Given the description of an element on the screen output the (x, y) to click on. 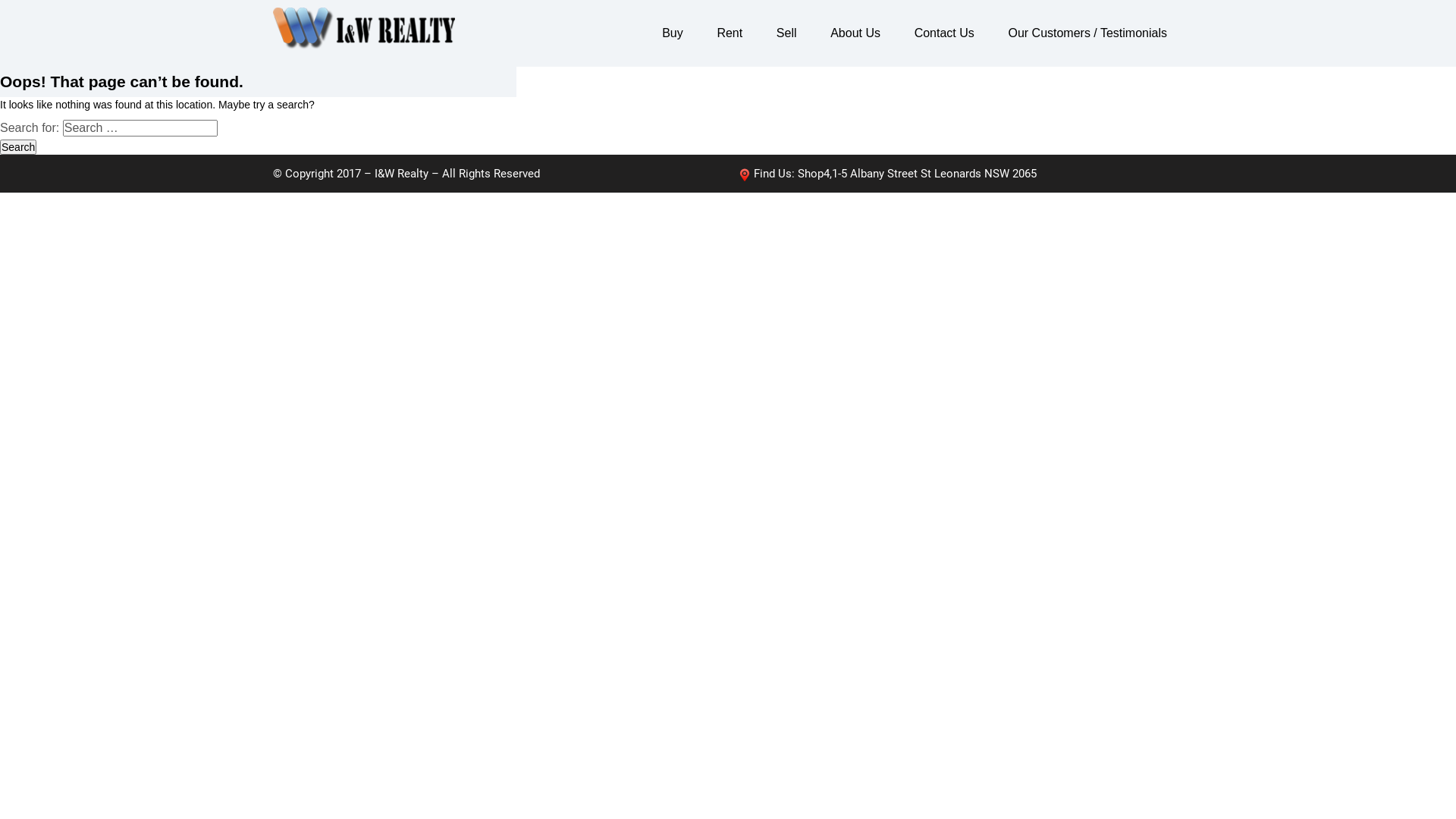
Our Customers / Testimonials Element type: text (1087, 33)
Contact Us Element type: text (944, 33)
Buy Element type: text (672, 33)
Sell Element type: text (786, 33)
Search Element type: text (18, 146)
About Us Element type: text (855, 33)
Rent Element type: text (729, 33)
